Given the description of an element on the screen output the (x, y) to click on. 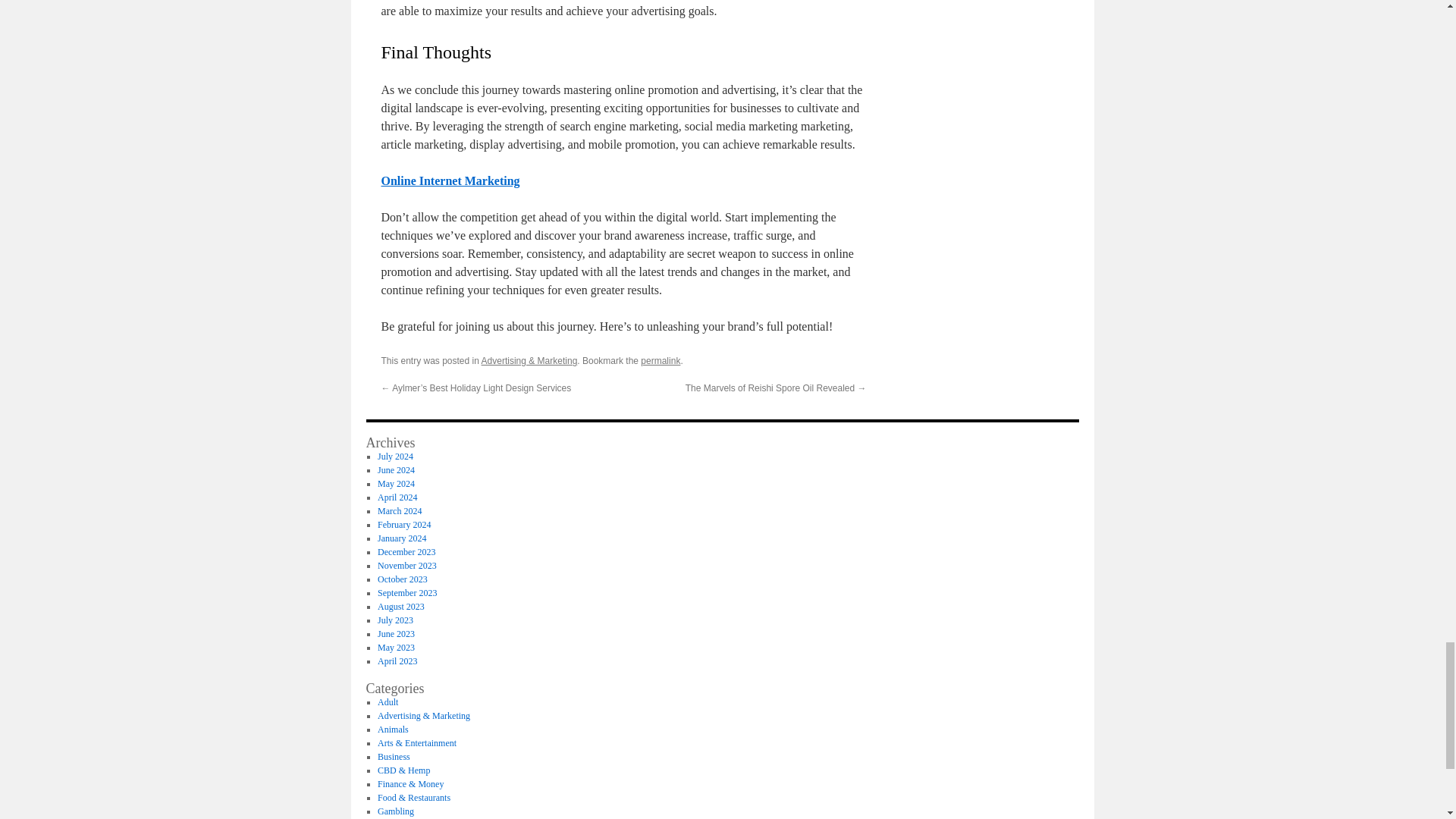
Adult (387, 701)
July 2023 (395, 620)
February 2024 (403, 524)
June 2023 (395, 633)
August 2023 (401, 606)
May 2023 (395, 647)
May 2024 (395, 483)
December 2023 (406, 552)
July 2024 (395, 456)
Online Internet Marketing (449, 180)
April 2023 (396, 661)
November 2023 (406, 565)
April 2024 (396, 497)
permalink (659, 360)
January 2024 (401, 538)
